Given the description of an element on the screen output the (x, y) to click on. 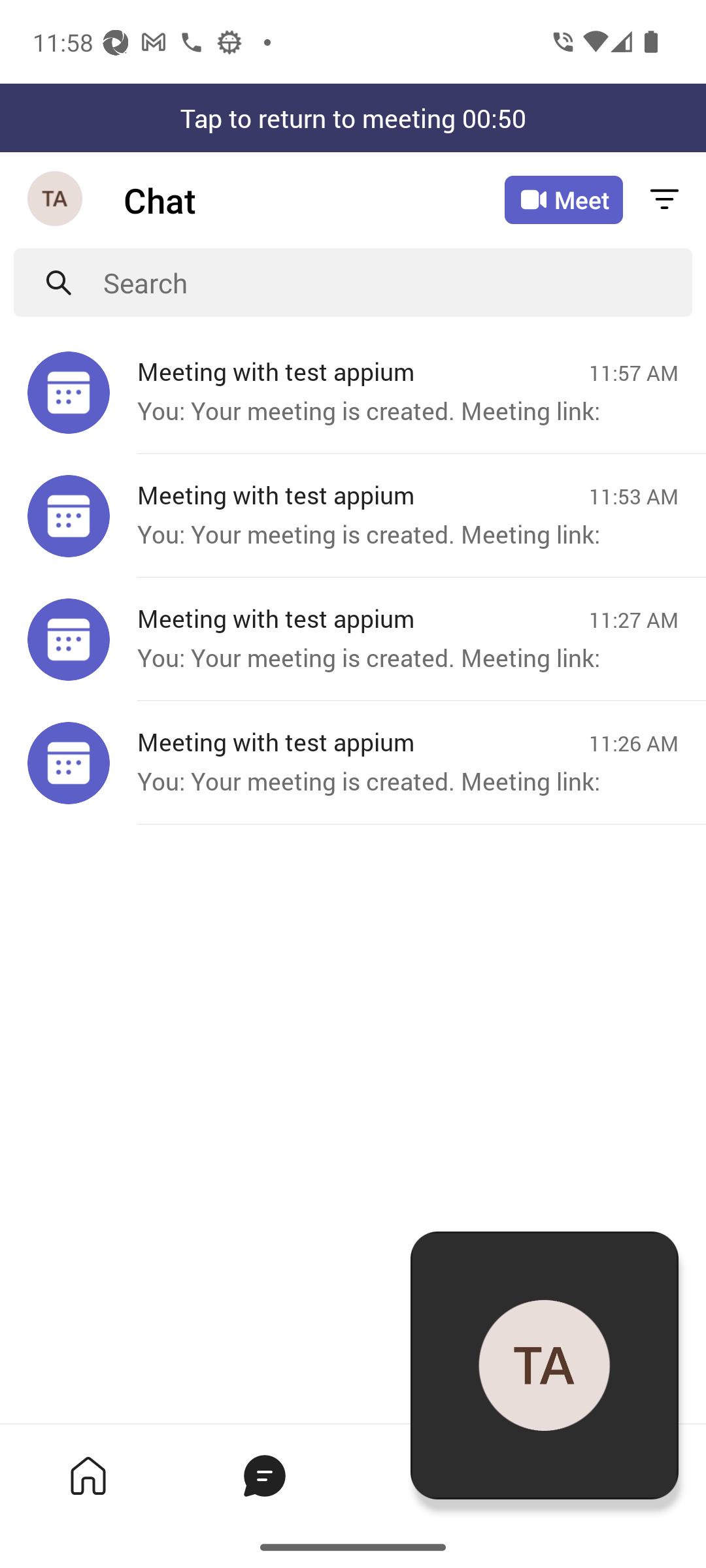
Tap to return to meeting 00:50 (353, 117)
Filter chat messages (664, 199)
Navigation (56, 199)
Meet Meet now or join with an ID (563, 199)
Search (397, 281)
Home tab,1 of 4, not selected (88, 1475)
Chat tab, 2 of 4 (264, 1475)
